Given the description of an element on the screen output the (x, y) to click on. 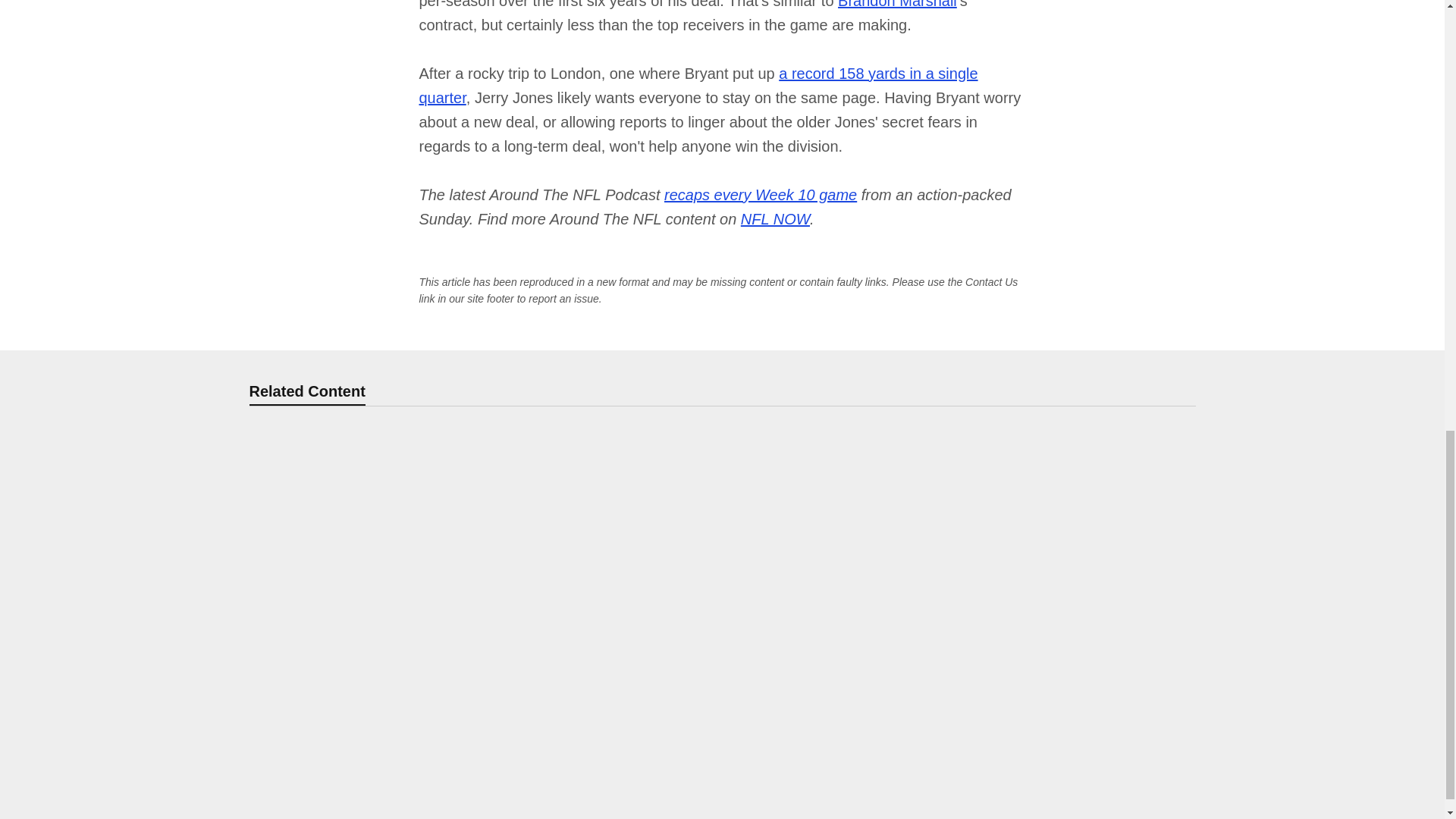
recaps every Week 10 game (760, 194)
a record 158 yards in a single quarter (697, 85)
NFL NOW (775, 218)
Brandon Marshall (897, 4)
